Given the description of an element on the screen output the (x, y) to click on. 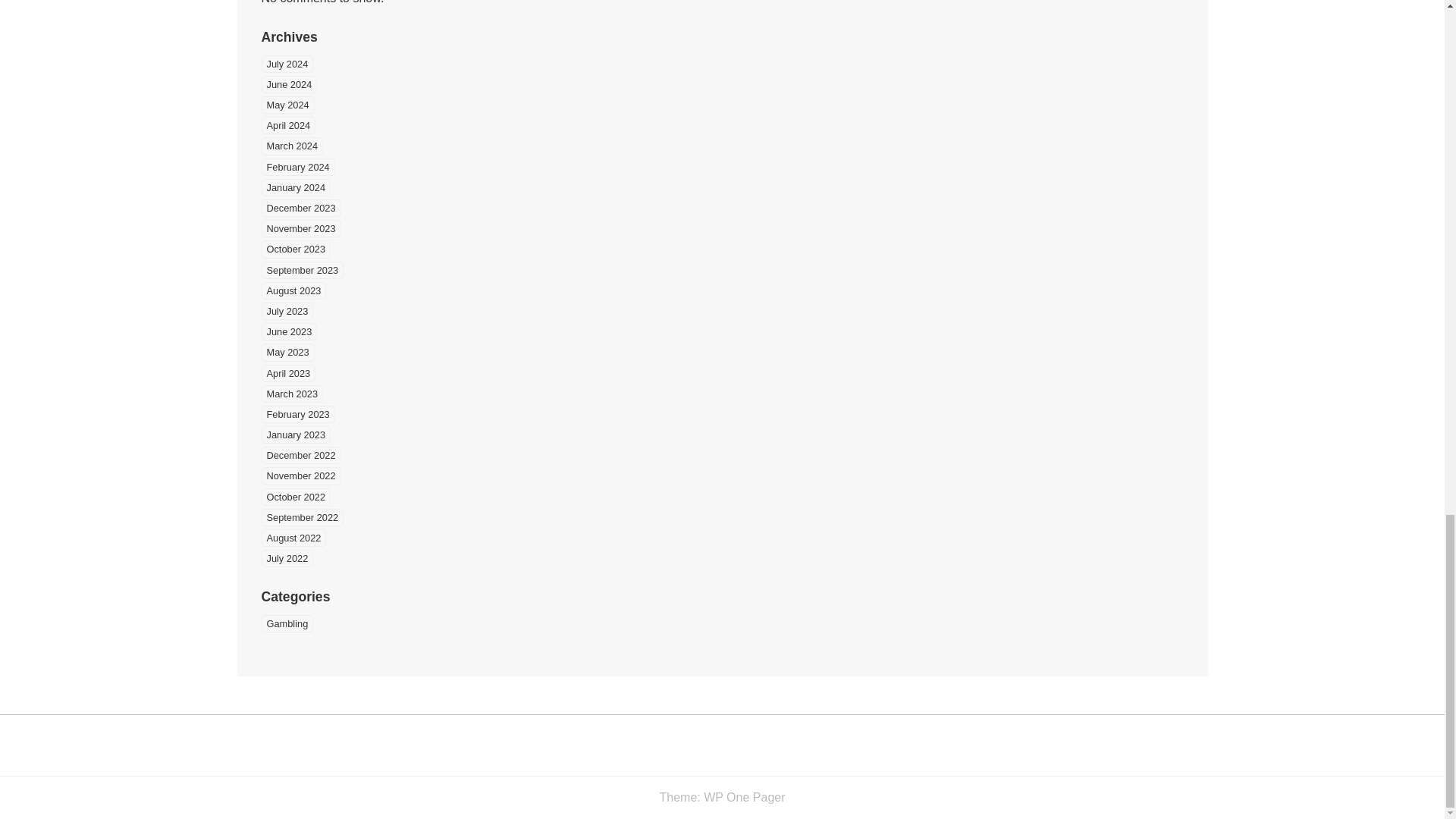
May 2024 (287, 104)
February 2024 (297, 167)
October 2023 (295, 248)
January 2024 (295, 187)
November 2023 (300, 228)
July 2024 (286, 63)
March 2024 (291, 145)
April 2023 (287, 372)
April 2024 (287, 125)
August 2023 (293, 290)
December 2023 (300, 208)
July 2023 (286, 311)
May 2023 (287, 352)
June 2024 (288, 84)
September 2023 (301, 270)
